Given the description of an element on the screen output the (x, y) to click on. 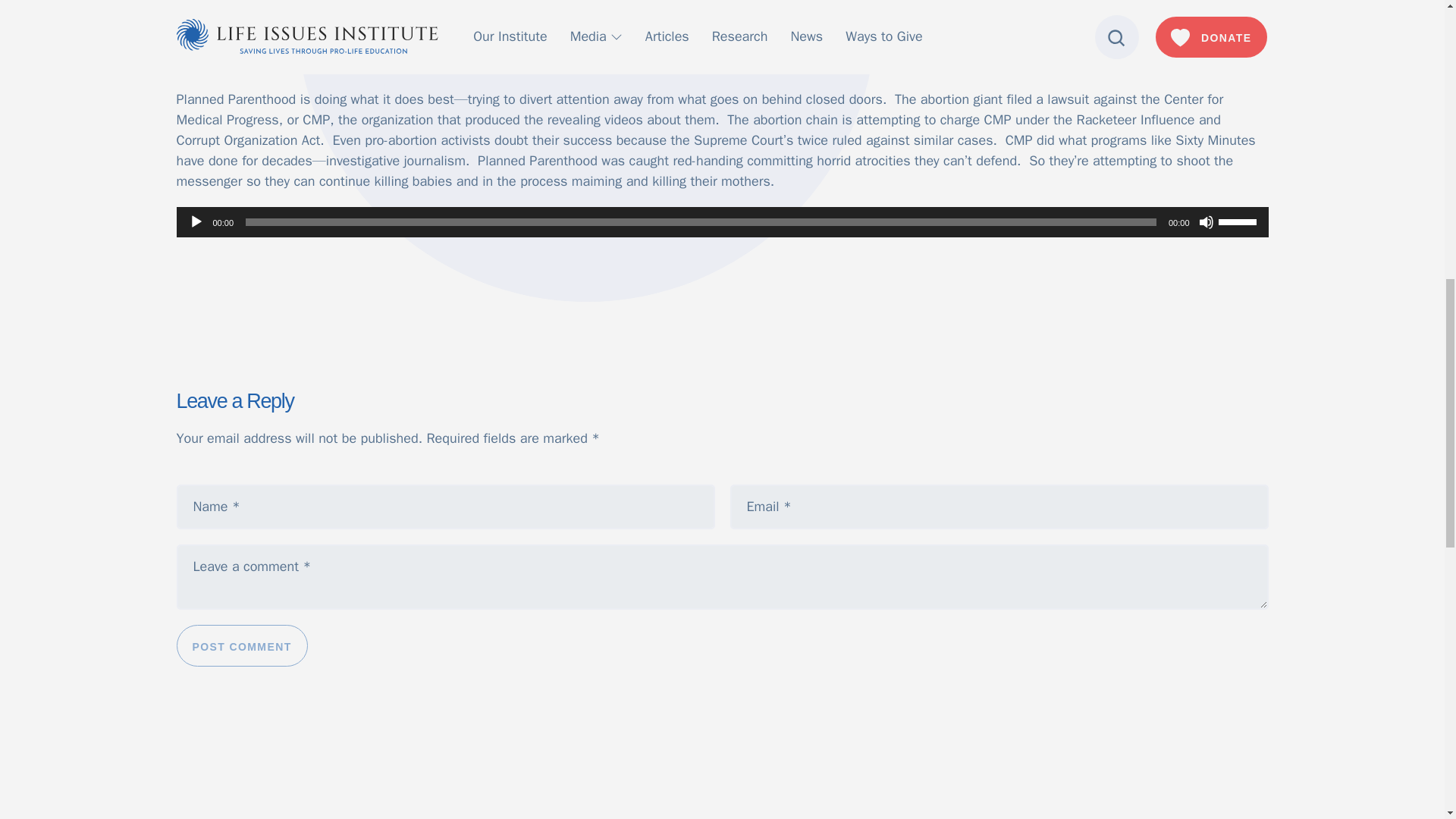
Post Comment (241, 645)
Post Comment (241, 645)
Mute (1205, 222)
Play (195, 222)
